Given the description of an element on the screen output the (x, y) to click on. 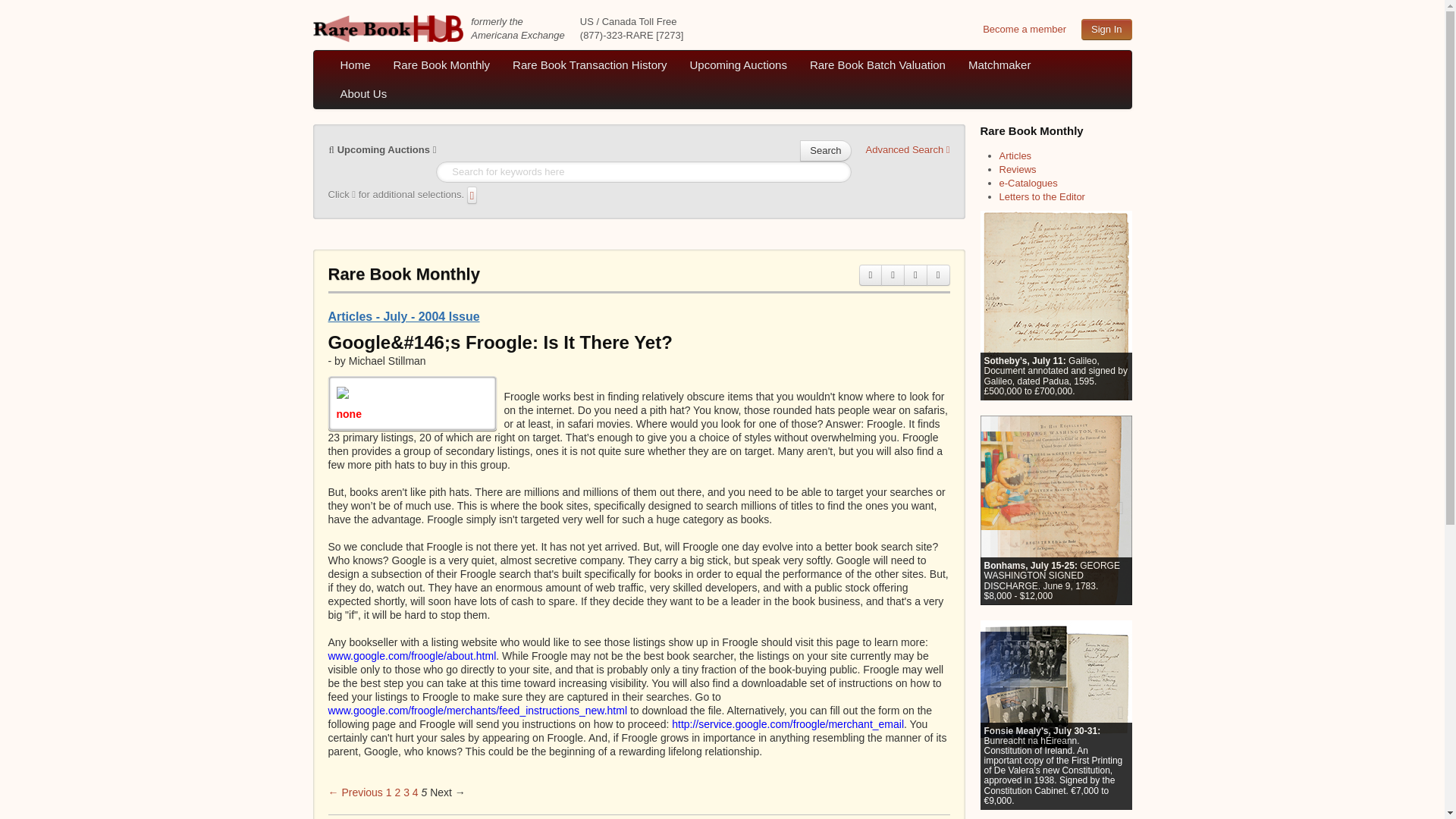
Print (870, 274)
Sign In (1106, 29)
Home (355, 64)
Send Email to Friend (892, 274)
Rare Book Monthly (441, 64)
Rare Book Batch Valuation (876, 64)
Become a member (1023, 29)
Advanced Search (908, 149)
About Us (363, 93)
Matchmaker (999, 64)
Search (824, 150)
Rare Book Transaction History (589, 64)
Change Font Size (915, 274)
Share Link (938, 274)
Upcoming Auctions (381, 149)
